Given the description of an element on the screen output the (x, y) to click on. 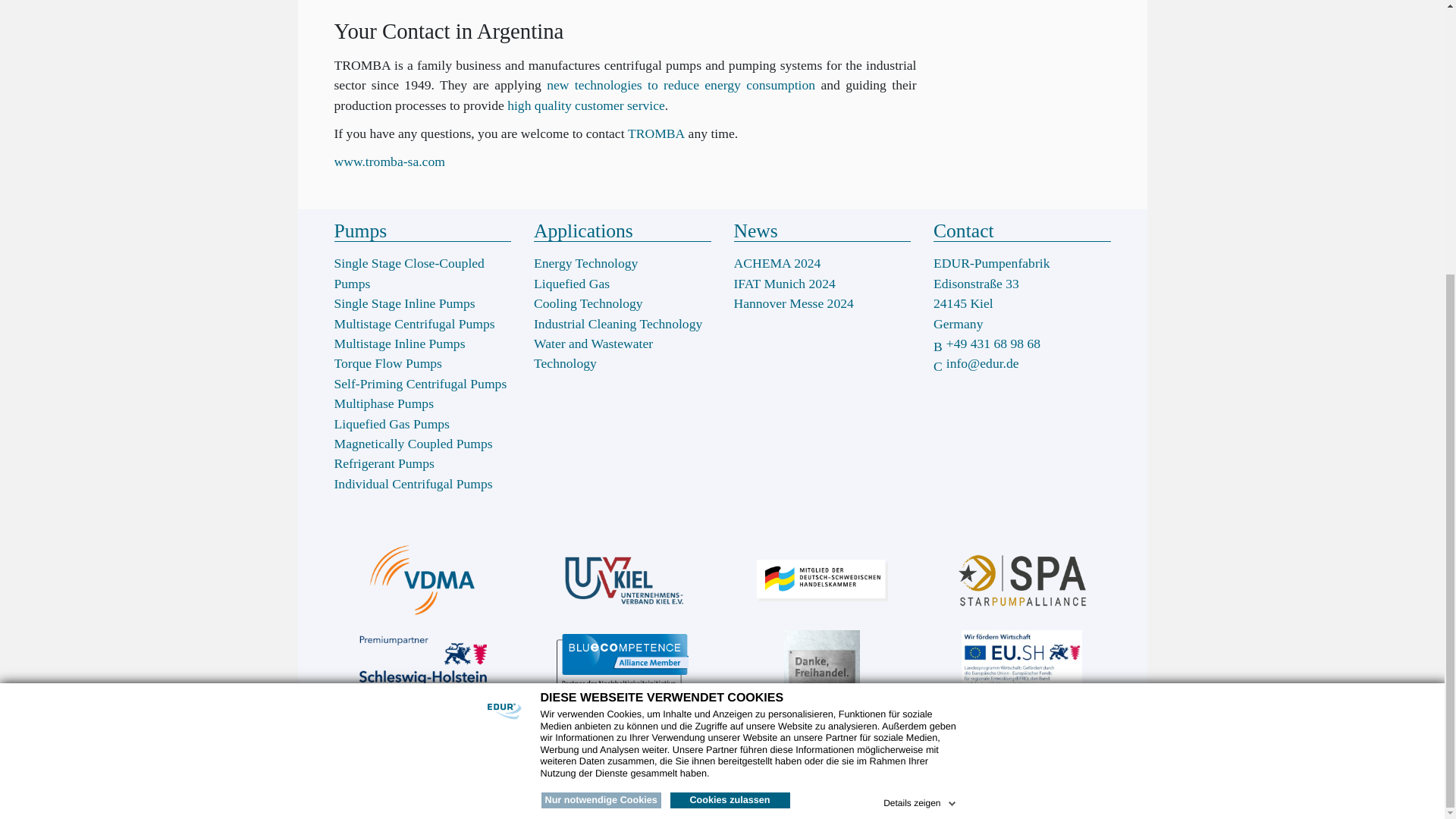
Details zeigen (920, 395)
Nur notwendige Cookies (601, 395)
Cookies zulassen (729, 395)
